Given the description of an element on the screen output the (x, y) to click on. 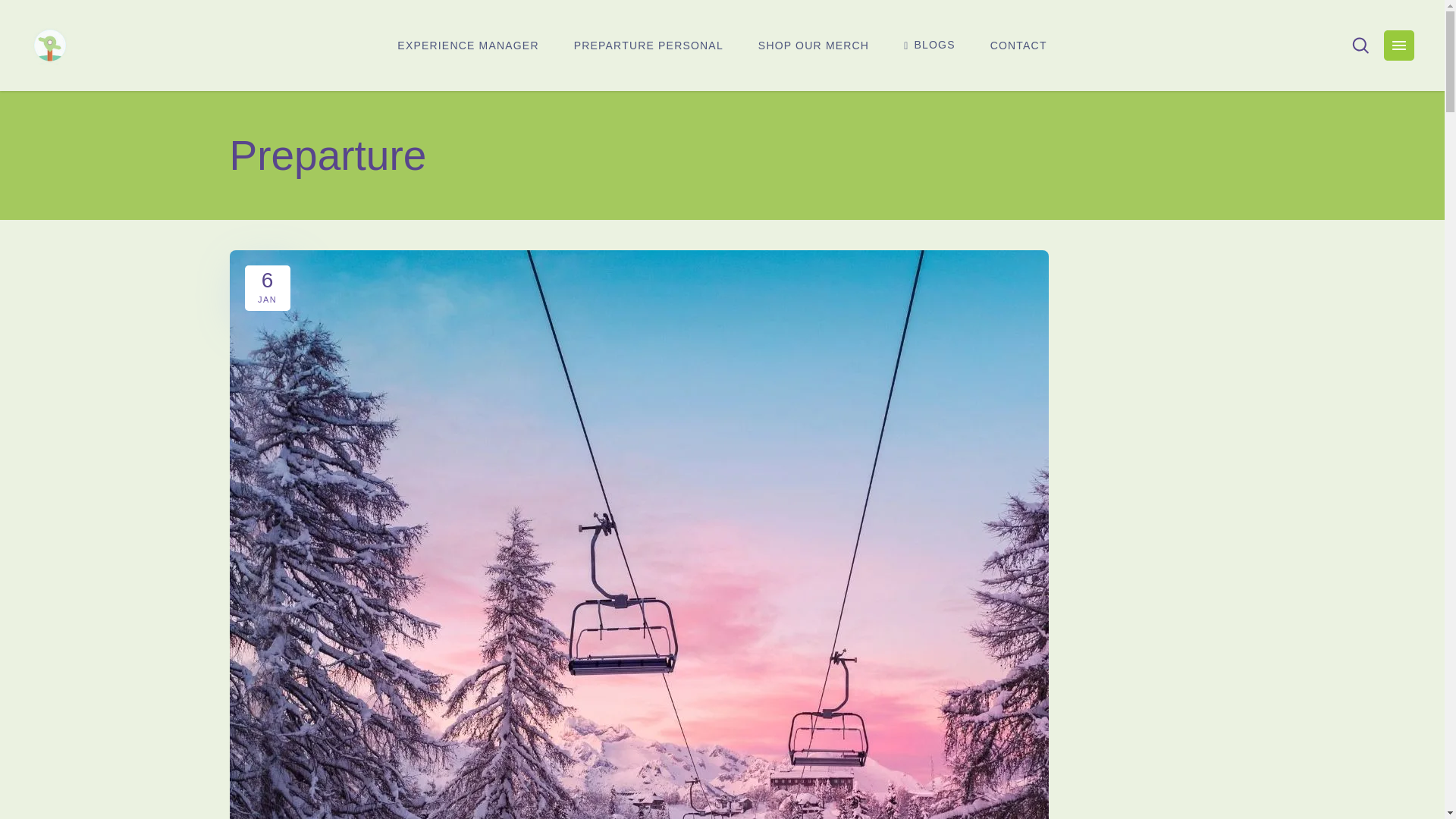
CONTACT (1018, 45)
SHOP OUR MERCH (813, 45)
BLOGS (929, 45)
PREPARTURE PERSONAL (648, 45)
EXPERIENCE MANAGER (468, 45)
